Given the description of an element on the screen output the (x, y) to click on. 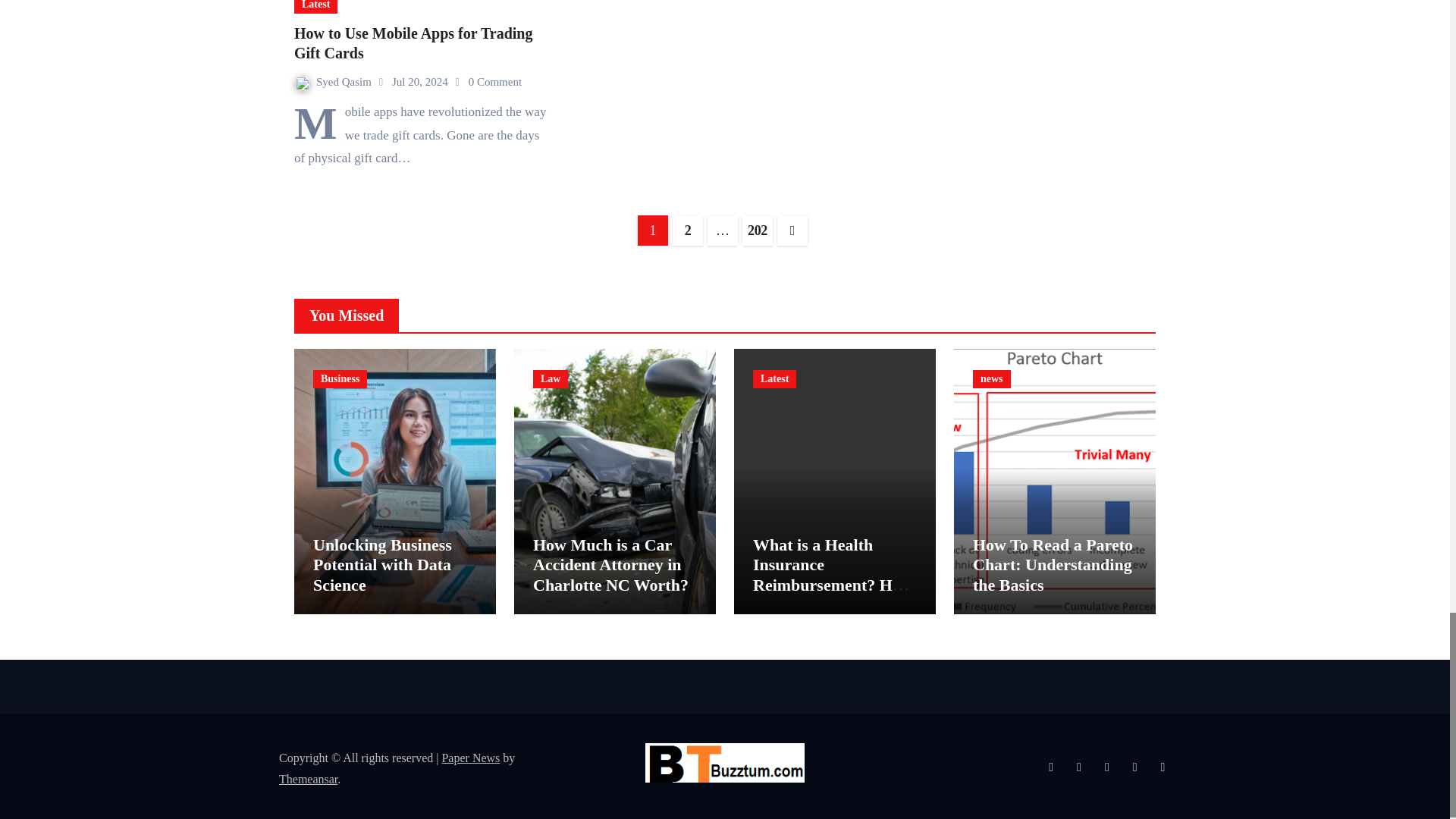
Permalink to: Unlocking Business Potential with Data Science (382, 564)
